Given the description of an element on the screen output the (x, y) to click on. 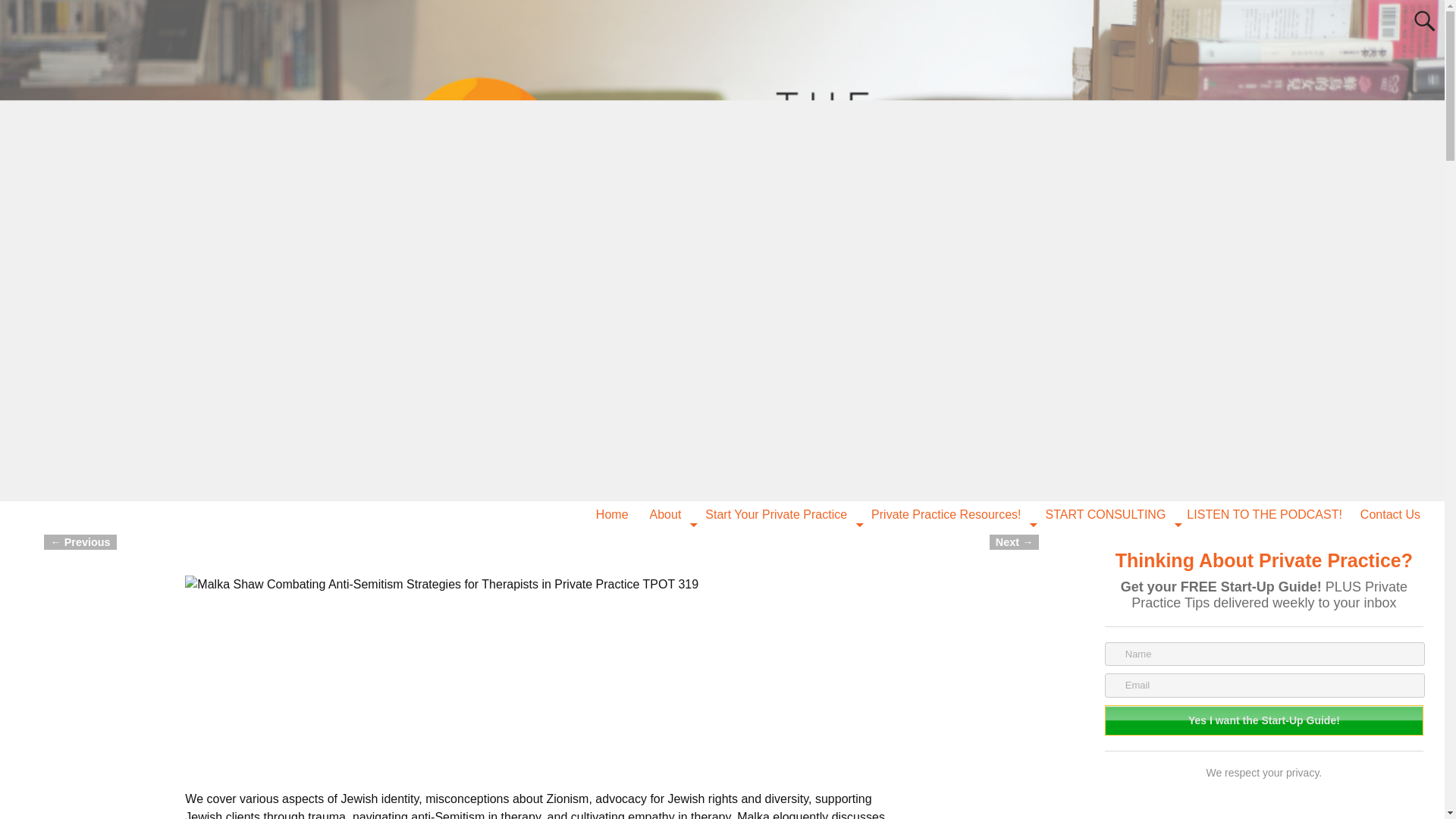
Home (611, 514)
Scroll to Top (1408, 782)
LISTEN TO THE PODCAST! (1264, 514)
Embed Player (541, 693)
Private Practice Resources! (945, 514)
Start Your Private Practice (776, 514)
Yes I want the Start-Up Guide! (1264, 720)
About (665, 514)
START CONSULTING (1105, 514)
